Given the description of an element on the screen output the (x, y) to click on. 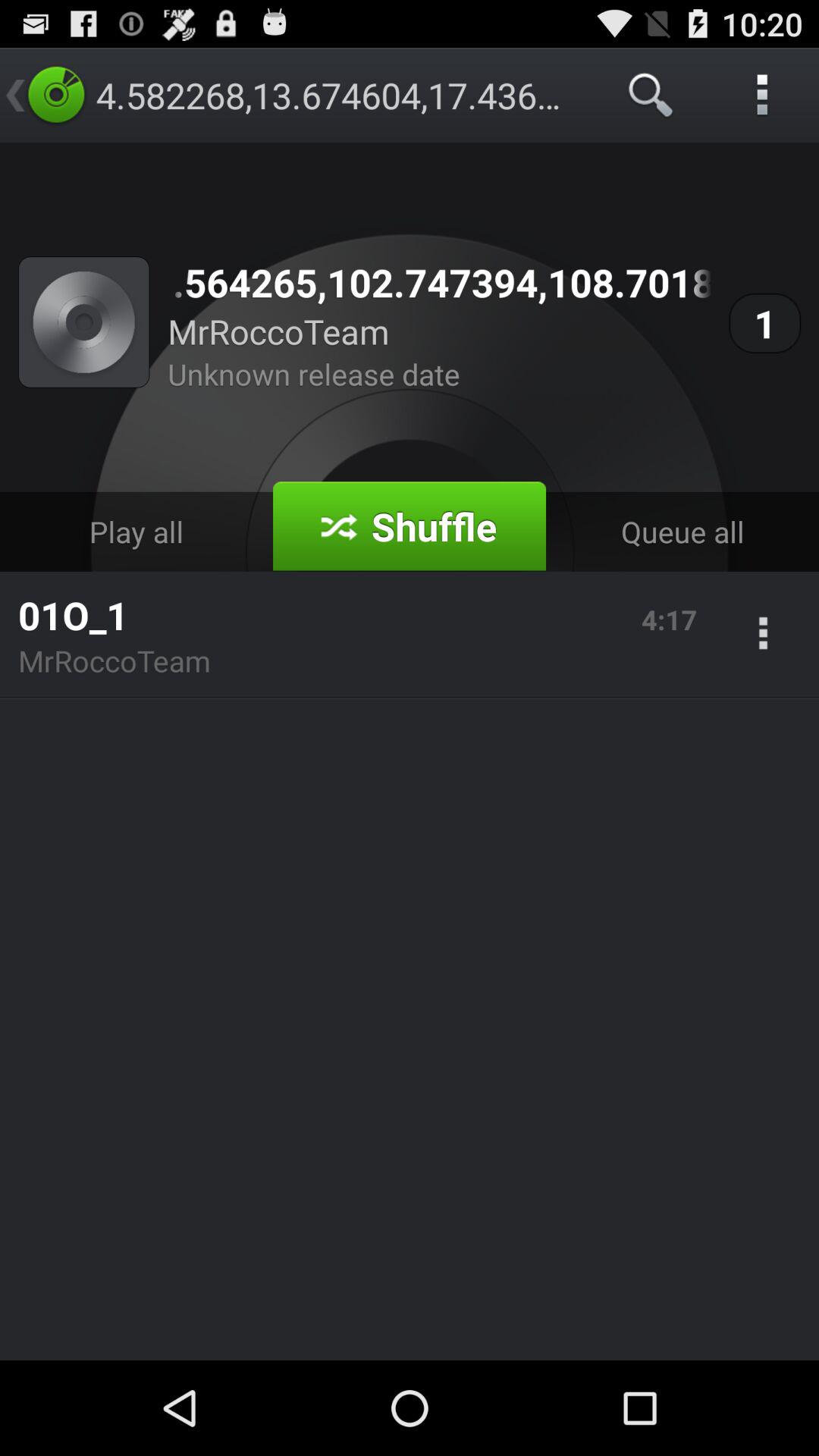
launch the icon to the right of 4:17 item (763, 634)
